Given the description of an element on the screen output the (x, y) to click on. 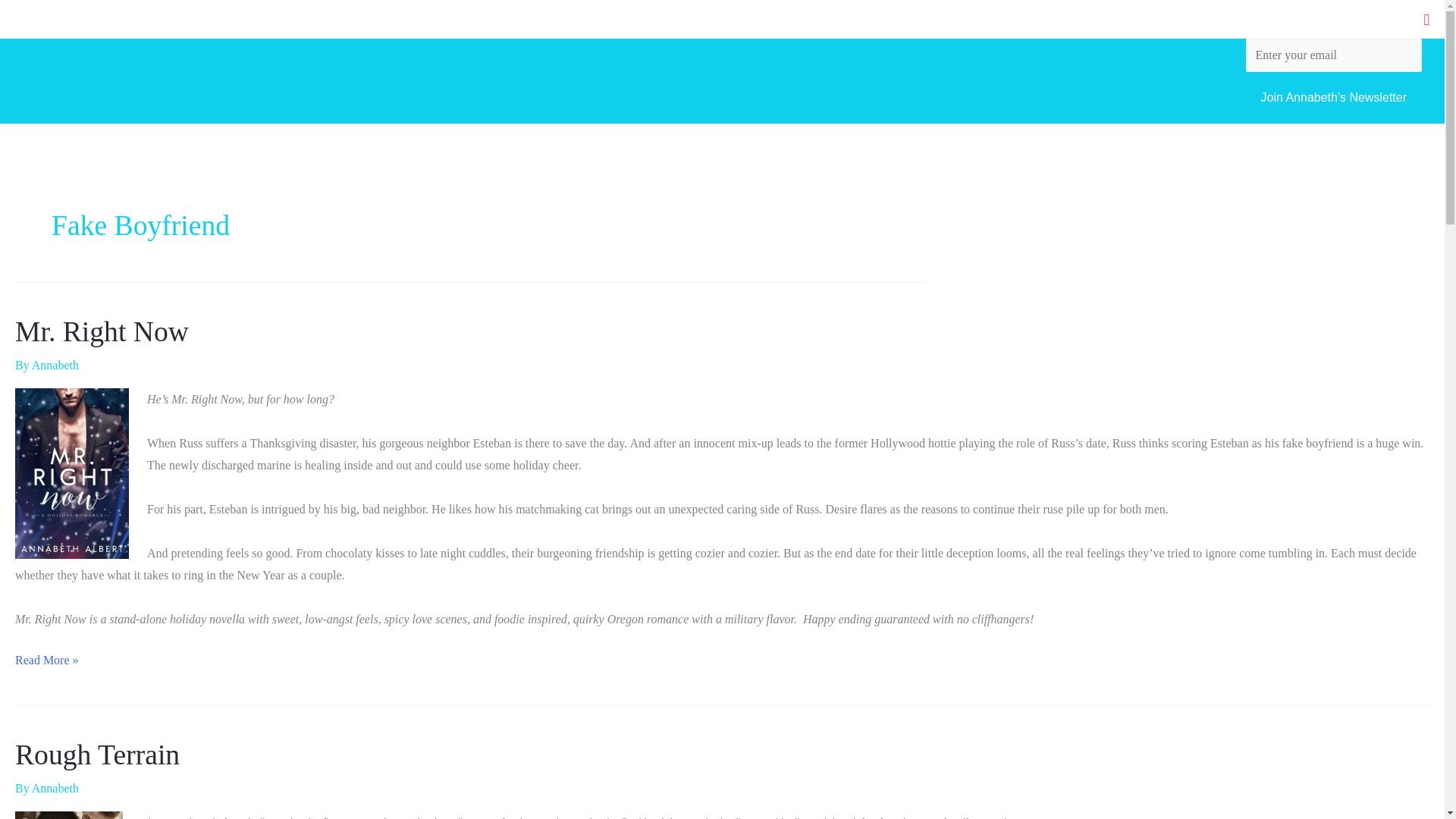
View all posts by Annabeth (55, 788)
Tropes (1104, 19)
View all posts by Annabeth (55, 364)
Books (1037, 19)
Home (977, 19)
Enter your email (1333, 55)
